Given the description of an element on the screen output the (x, y) to click on. 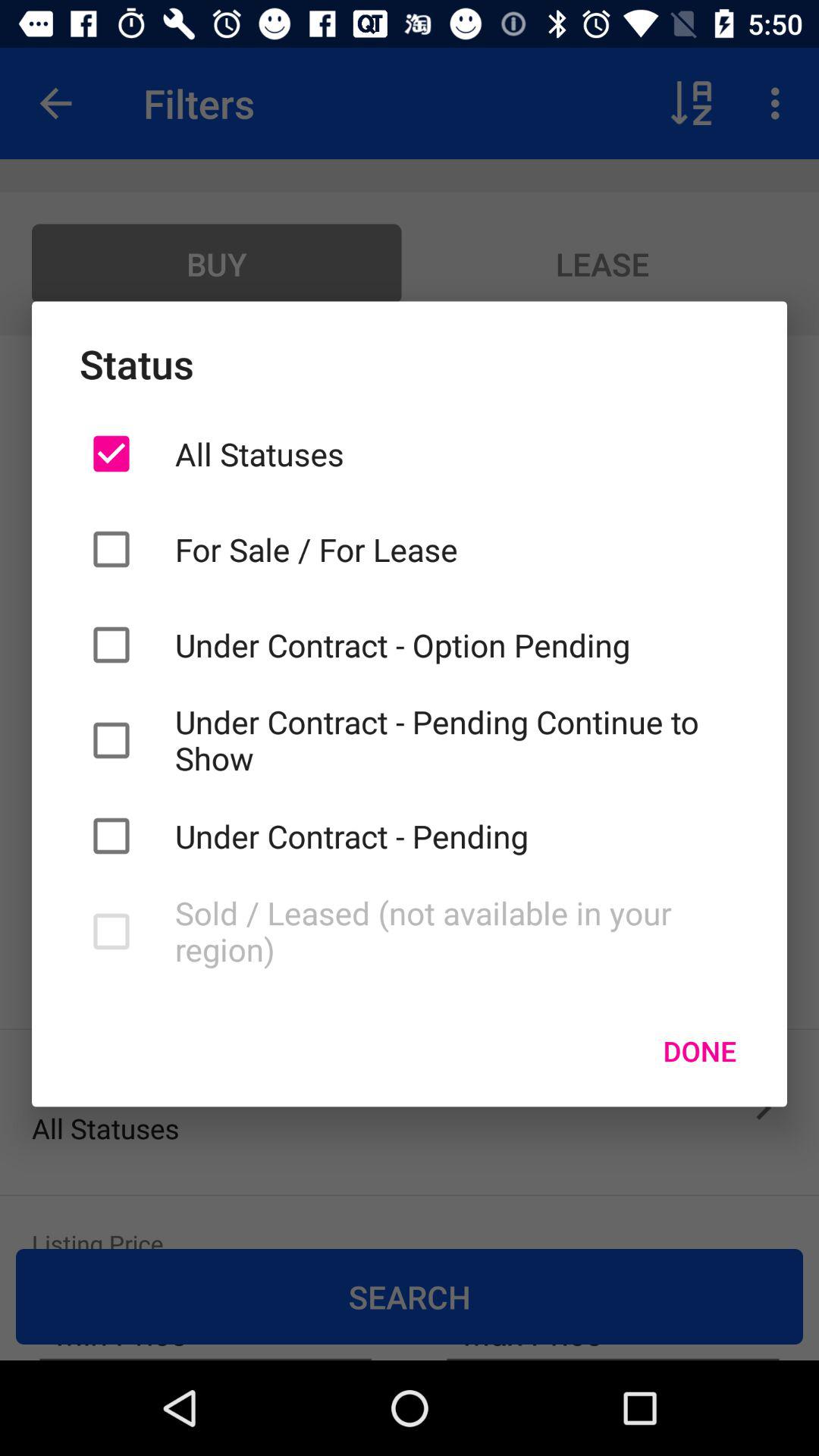
tap the item above done item (457, 931)
